Given the description of an element on the screen output the (x, y) to click on. 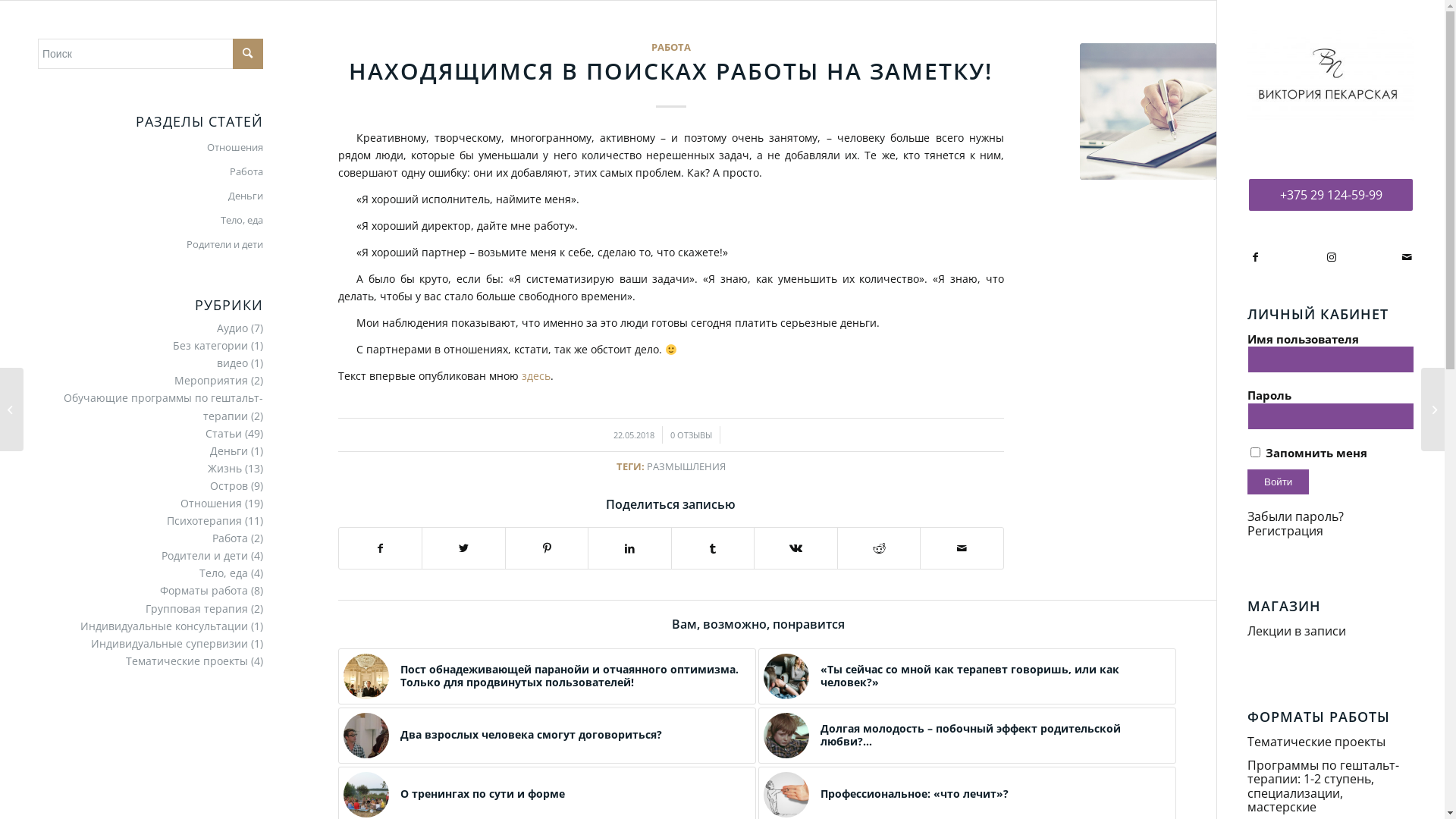
DSC_9702 Element type: hover (786, 676)
Instagram Element type: hover (1330, 257)
Facebook Element type: hover (1254, 257)
Mail Element type: hover (1406, 257)
+375 29 124-59-99 Element type: text (1330, 194)
